Given the description of an element on the screen output the (x, y) to click on. 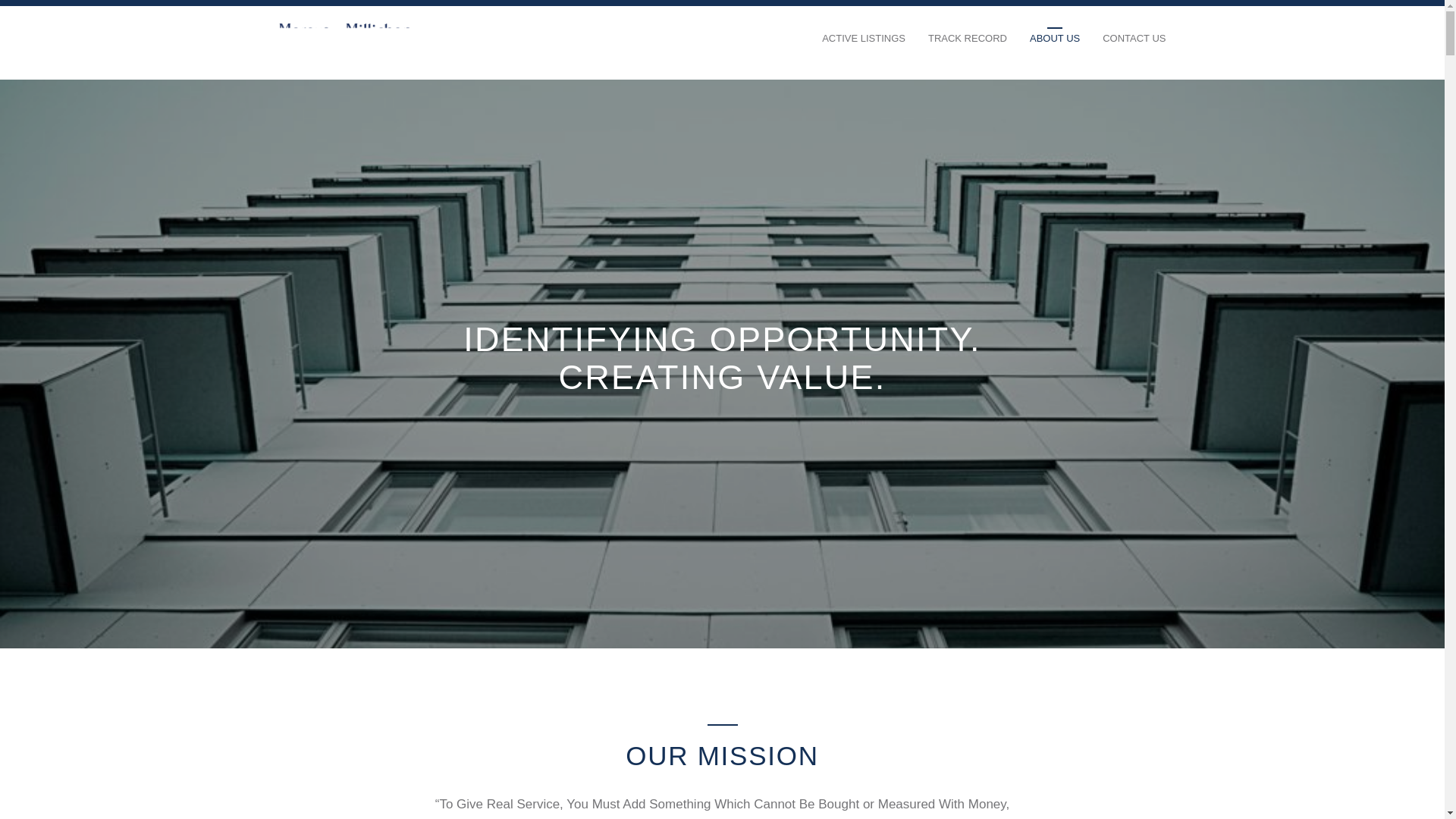
TRACK RECORD (967, 45)
ACTIVE LISTINGS (863, 45)
CONTACT US (1134, 45)
ABOUT US (1054, 45)
